Given the description of an element on the screen output the (x, y) to click on. 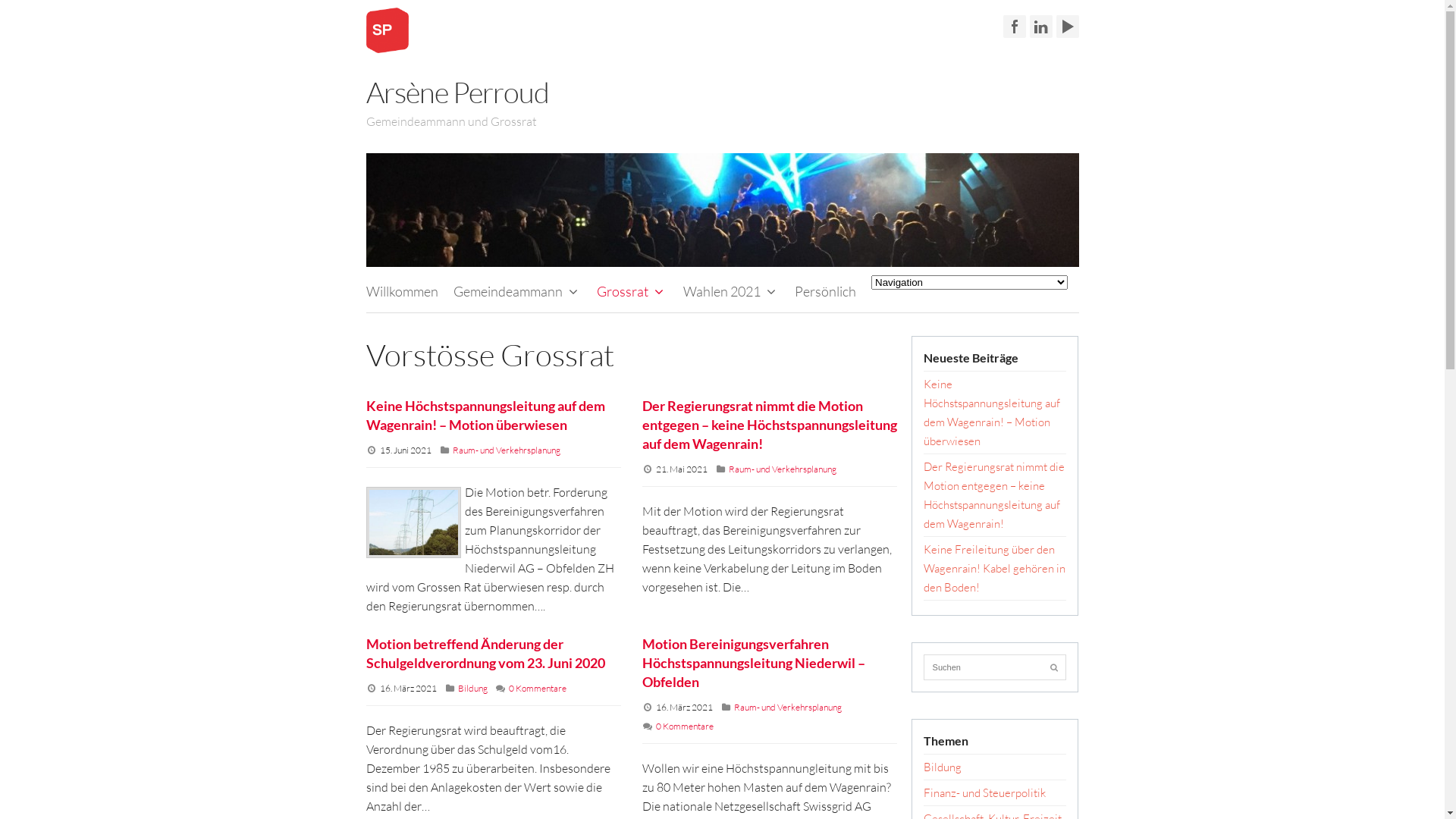
0 Kommentare Element type: text (684, 725)
linkedin Element type: hover (1040, 26)
Bildung Element type: text (942, 766)
Finanz- und Steuerpolitik Element type: text (984, 792)
Raum- und Verkehrsplanung Element type: text (782, 468)
Raum- und Verkehrsplanung Element type: text (505, 449)
Willkommen Element type: text (401, 291)
Grossrat Element type: text (632, 291)
0 Kommentare Element type: text (536, 687)
Raum- und Verkehrsplanung Element type: text (787, 706)
youtube Element type: hover (1066, 26)
Gemeindeammann Element type: text (517, 291)
Bildung Element type: text (472, 687)
Wahlen 2021 Element type: text (730, 291)
facebook Element type: hover (1013, 26)
